Given the description of an element on the screen output the (x, y) to click on. 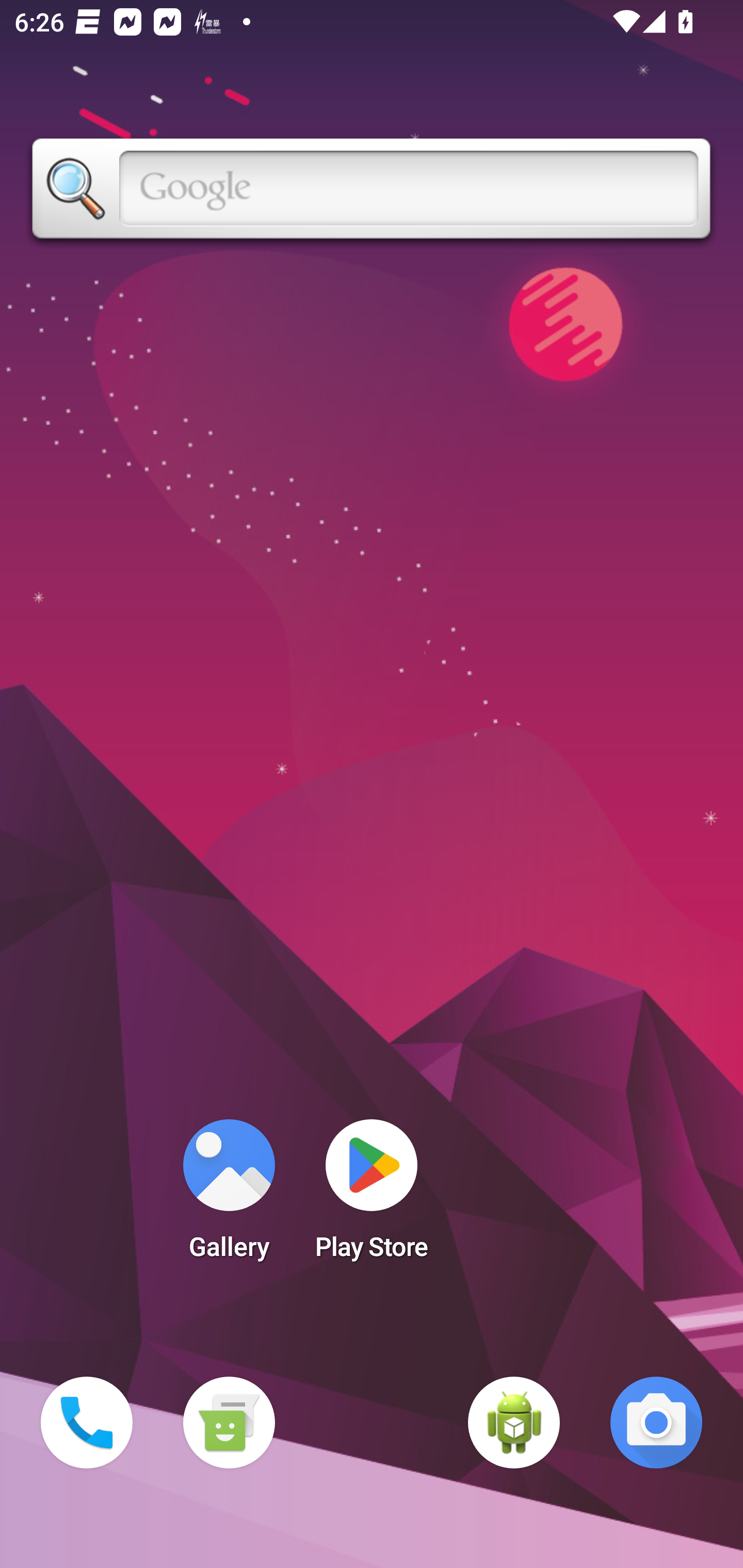
Gallery (228, 1195)
Play Store (371, 1195)
Phone (86, 1422)
Messaging (228, 1422)
WebView Browser Tester (513, 1422)
Camera (656, 1422)
